Given the description of an element on the screen output the (x, y) to click on. 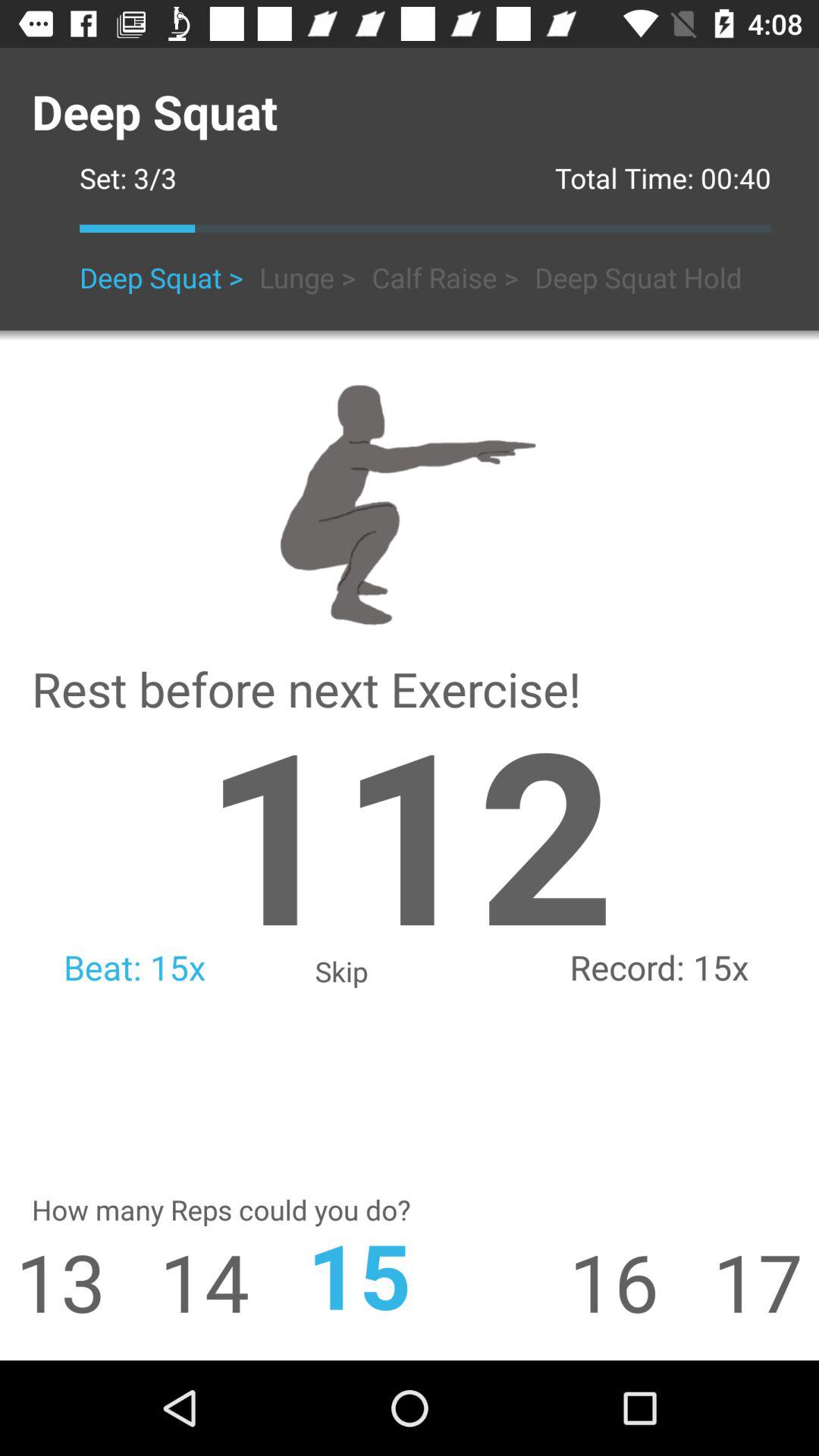
tap icon next to 14 (409, 1274)
